Given the description of an element on the screen output the (x, y) to click on. 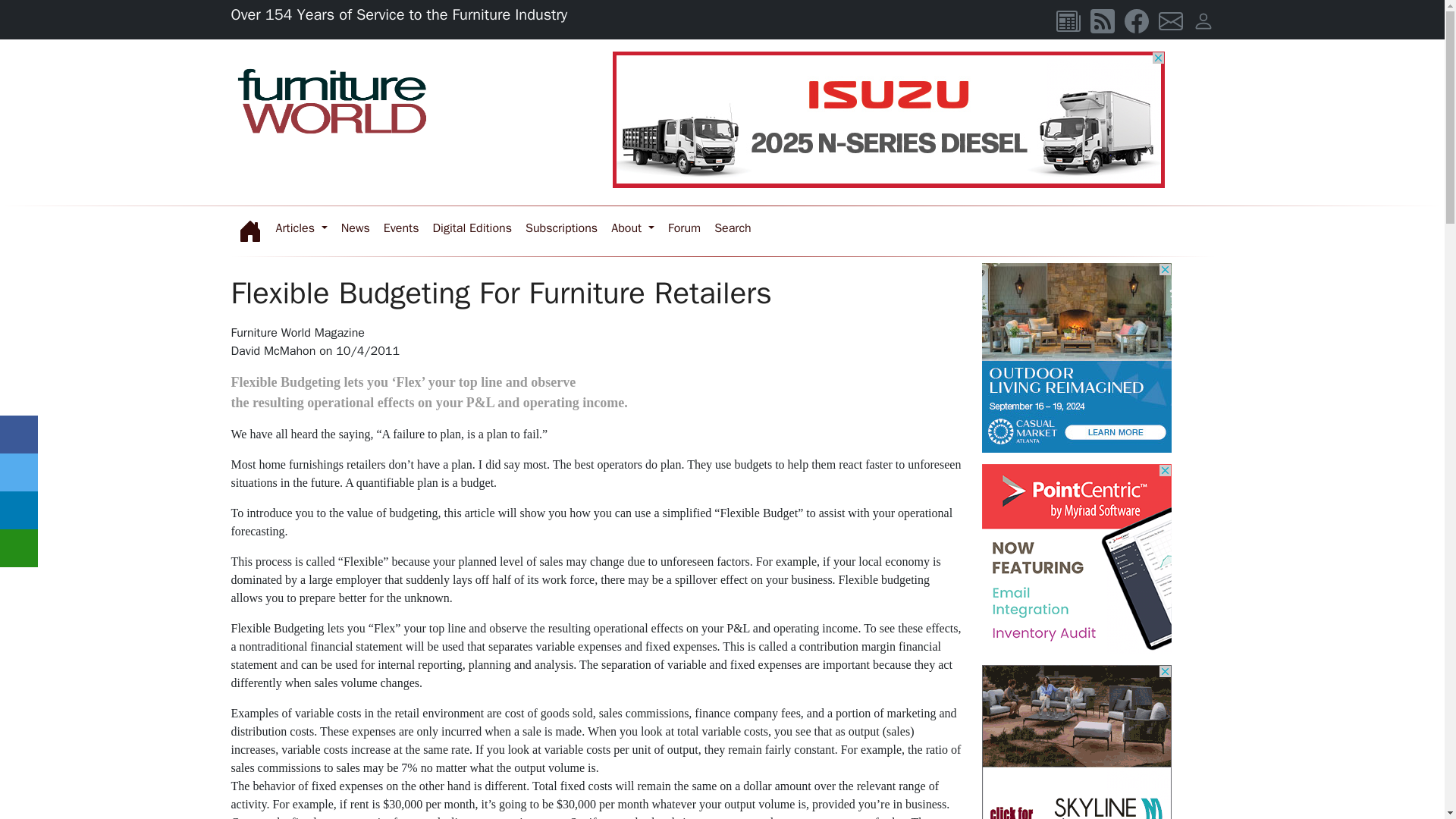
Subscriptions (561, 228)
About (632, 228)
News (355, 228)
Furniture Industry Events (401, 228)
Digital Editions (472, 228)
3rd party ad content (1075, 357)
Search (732, 228)
Furniture Industry Magazine Digitial Editions (472, 228)
Furniture World Magazine Print Subscriptions (561, 228)
Furniture Industry Forum (732, 228)
3rd party ad content (888, 119)
Furniture Industry News (355, 228)
Events (401, 228)
Furniture Industry Forum (684, 228)
Articles (300, 228)
